Given the description of an element on the screen output the (x, y) to click on. 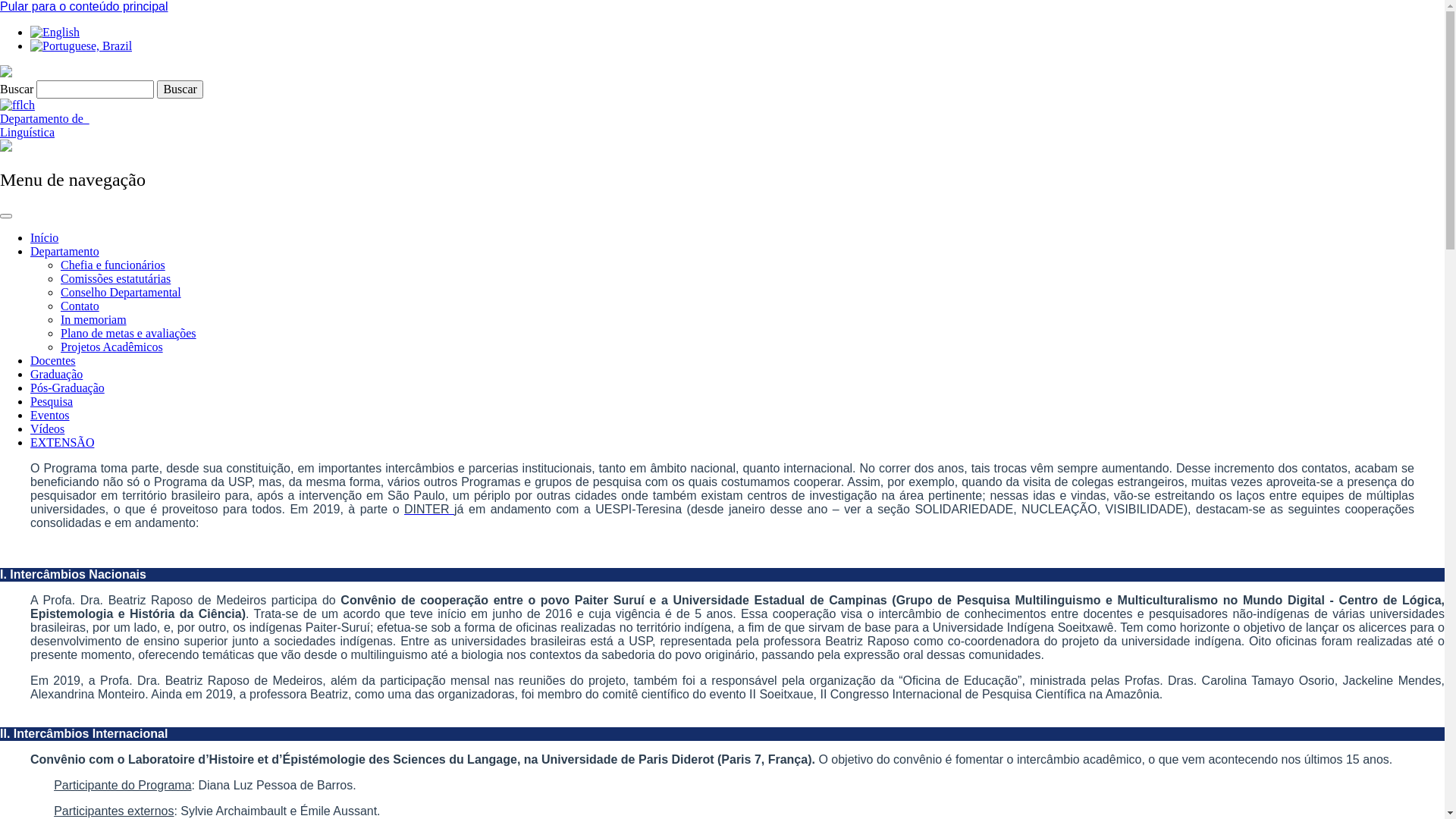
DINTER Element type: text (429, 508)
English Element type: hover (54, 32)
Docentes Element type: text (52, 360)
Contato Element type: text (79, 305)
Departamento Element type: text (64, 250)
Portuguese, Brazil Element type: hover (80, 46)
Conselho Departamental Element type: text (120, 291)
In memoriam Element type: text (93, 319)
Departamento de   Element type: text (44, 118)
Pesquisa Element type: text (51, 401)
Eventos Element type: text (49, 414)
Buscar Element type: text (179, 89)
